Given the description of an element on the screen output the (x, y) to click on. 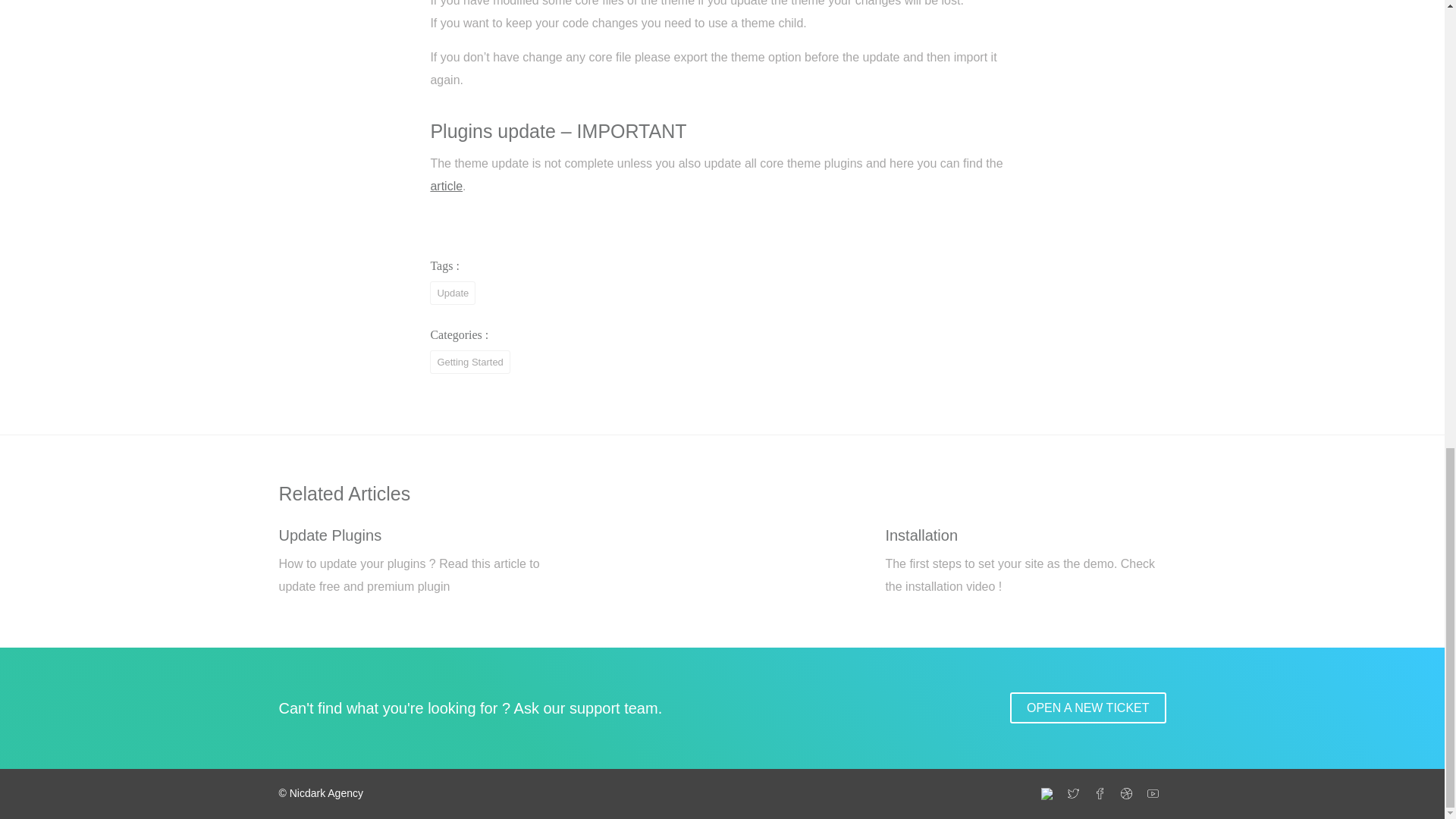
Installation (921, 535)
Update Plugins (330, 535)
article (446, 185)
Getting Started (469, 361)
Update (452, 292)
